Given the description of an element on the screen output the (x, y) to click on. 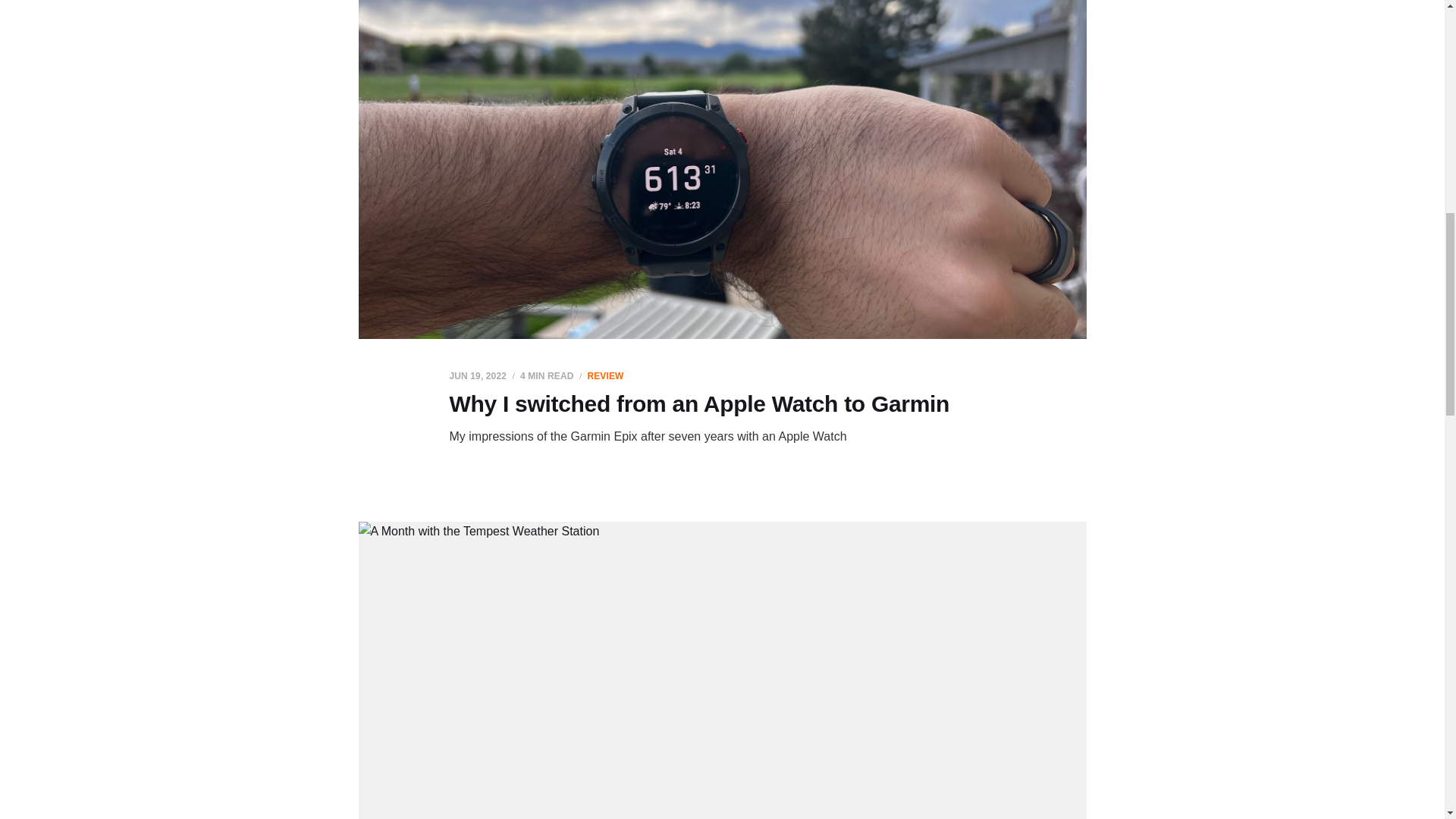
REVIEW (604, 376)
Review (604, 376)
Why I switched from an Apple Watch to Garmin (698, 403)
